Given the description of an element on the screen output the (x, y) to click on. 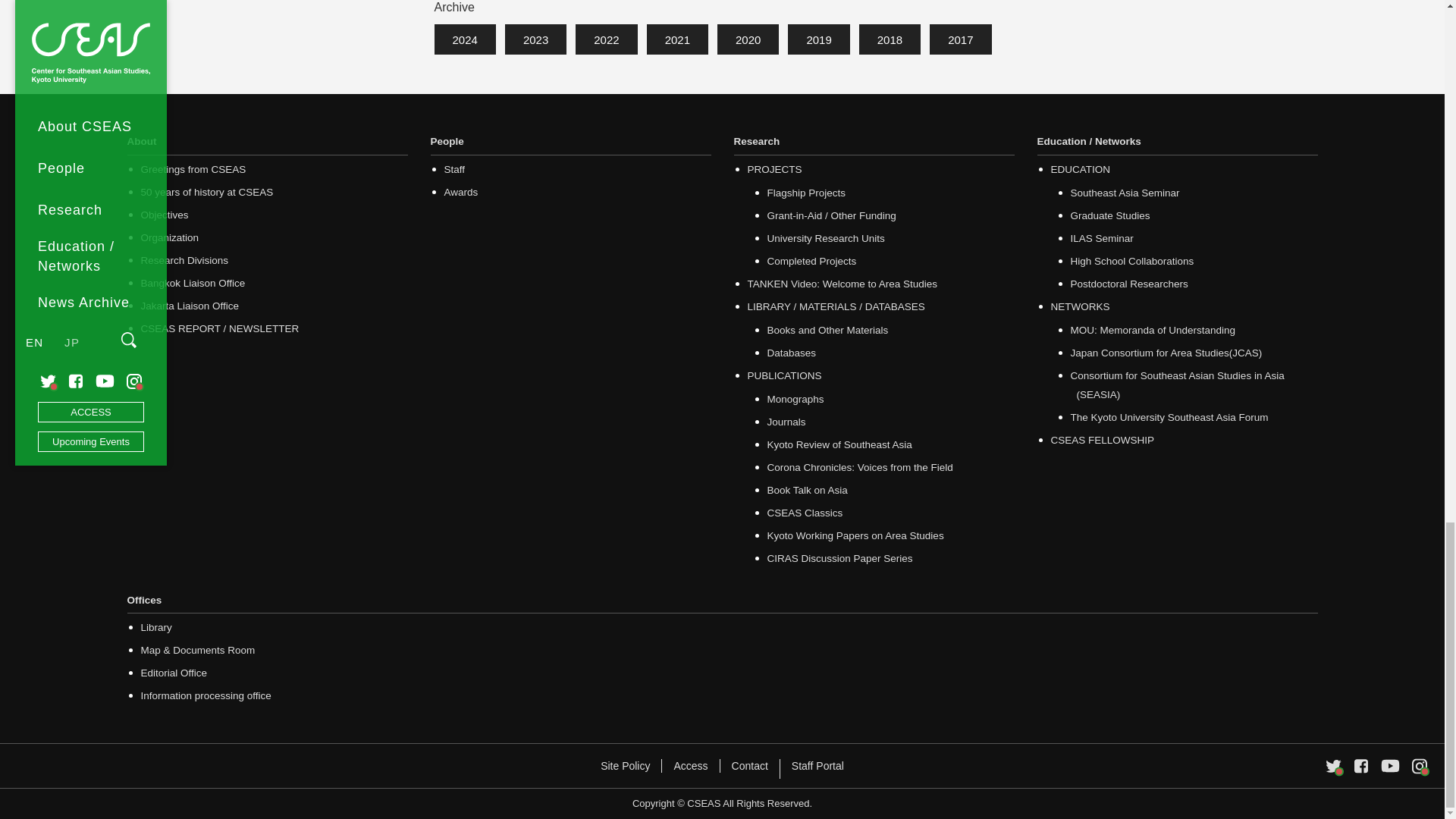
2017 (960, 39)
2021 (676, 39)
Objectives (165, 214)
Greetings from CSEAS (193, 168)
Jakarta Liaison Office (190, 305)
Research Divisions (184, 259)
50 years of history at CSEAS (207, 191)
2023 (535, 39)
About (267, 143)
2020 (747, 39)
